Given the description of an element on the screen output the (x, y) to click on. 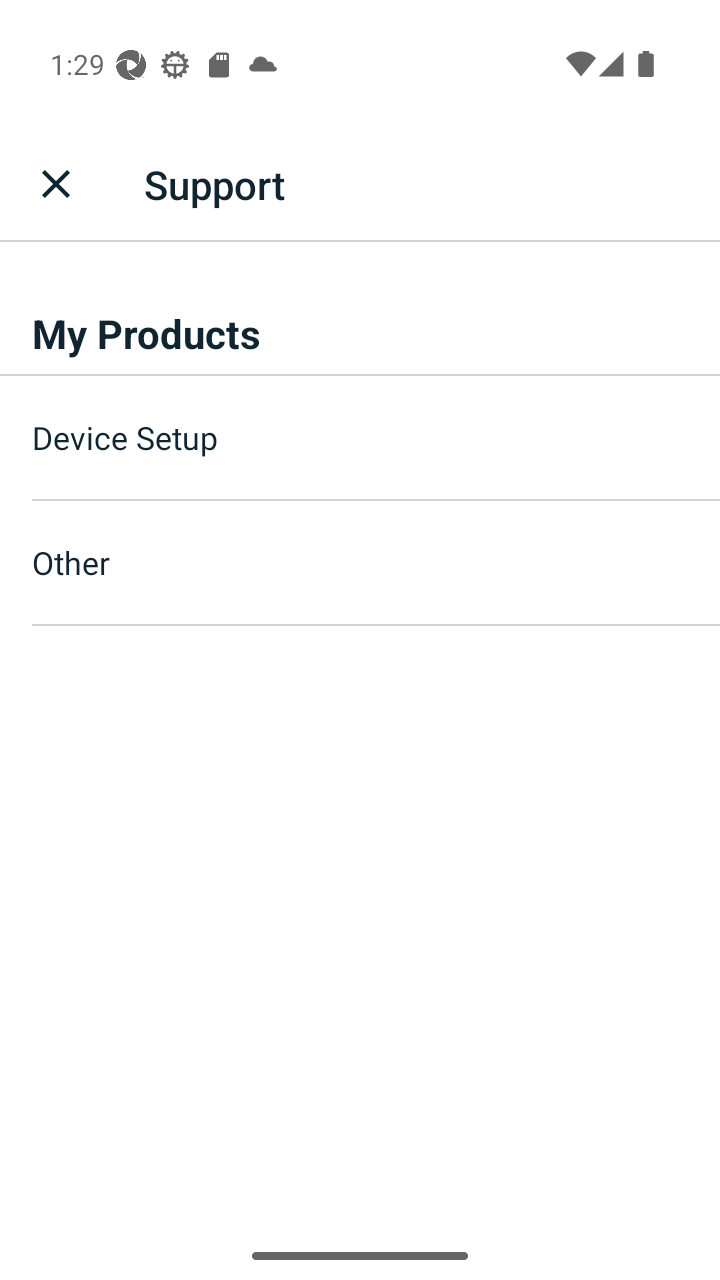
Device Setup (375, 437)
Other (375, 562)
